Given the description of an element on the screen output the (x, y) to click on. 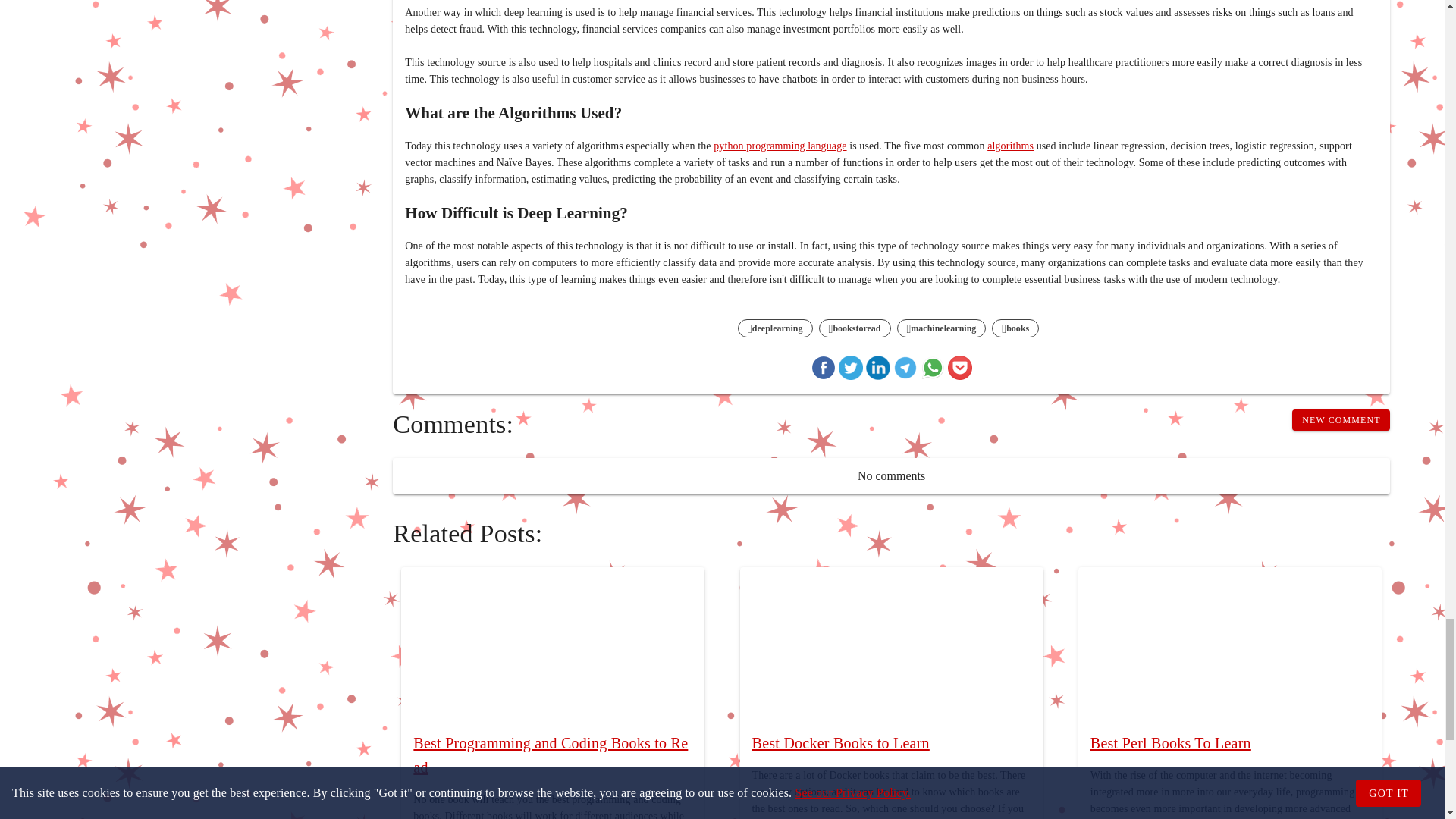
LinkedIn (877, 369)
Twitter (850, 369)
Telegram (905, 369)
Pocket (959, 369)
Whatsapp (932, 369)
Facebook (822, 369)
